Given the description of an element on the screen output the (x, y) to click on. 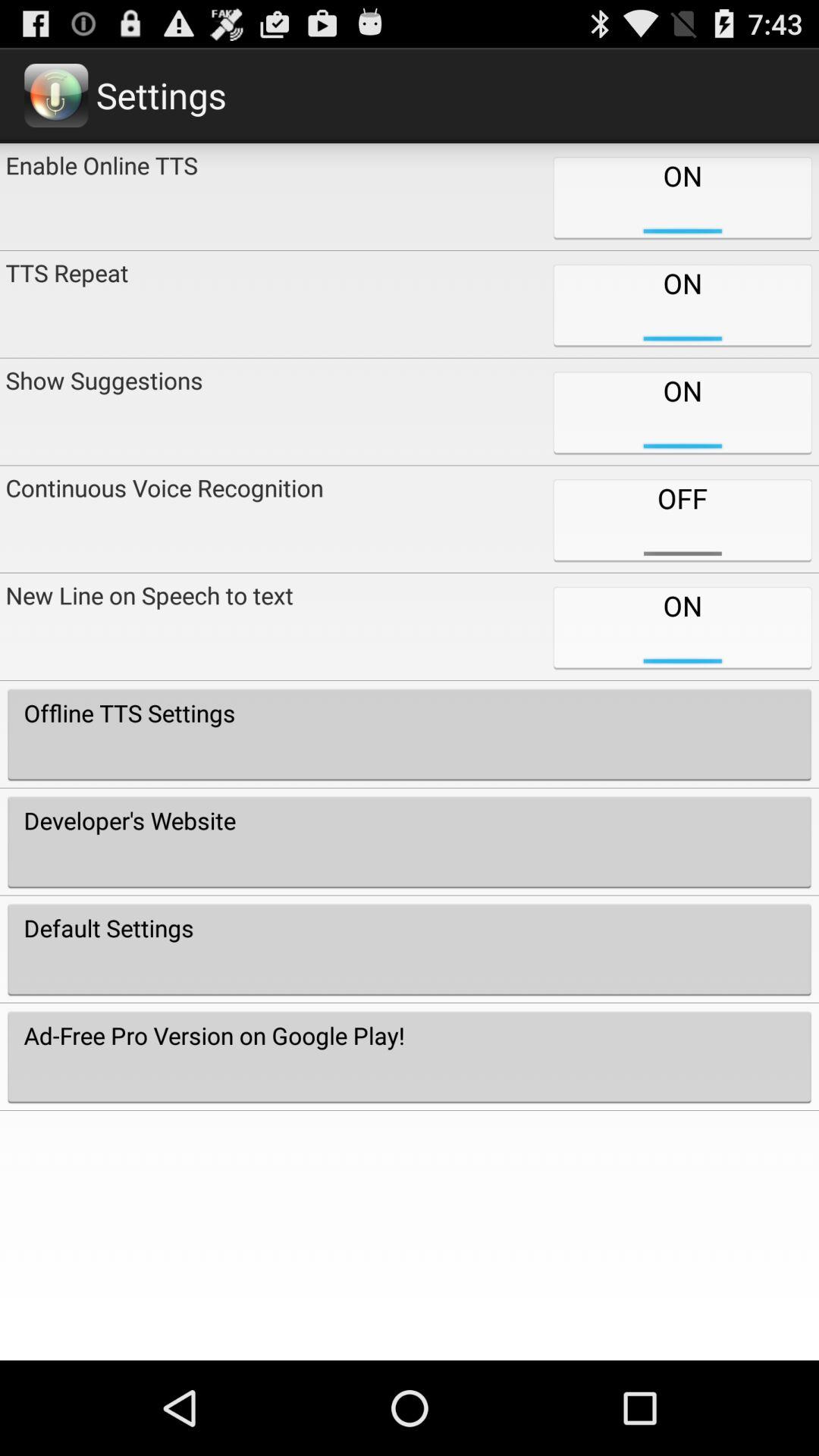
scroll to ad free pro button (409, 1056)
